Given the description of an element on the screen output the (x, y) to click on. 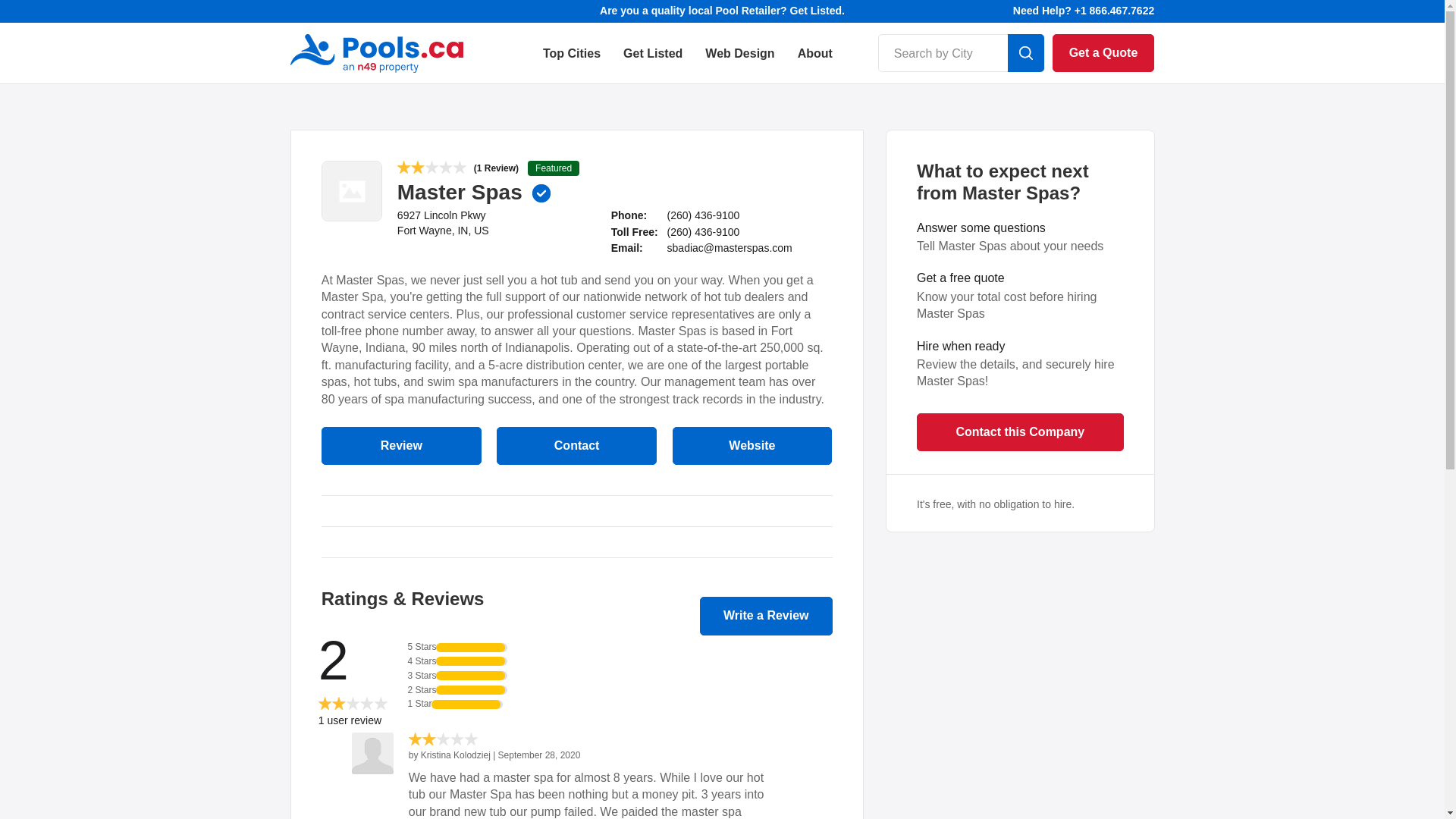
Website (751, 445)
Fort Wayne, IN, US (443, 230)
Write a Review (766, 615)
Kristina Kolodziej (456, 755)
Get Listed (652, 64)
Get a Quote (1103, 53)
Web Design (739, 64)
About (814, 64)
Are you a quality local Pool Retailer? Get Listed. (721, 10)
Contact this Company (1020, 431)
Review (400, 445)
Top Cities (571, 64)
Contact (576, 445)
